Given the description of an element on the screen output the (x, y) to click on. 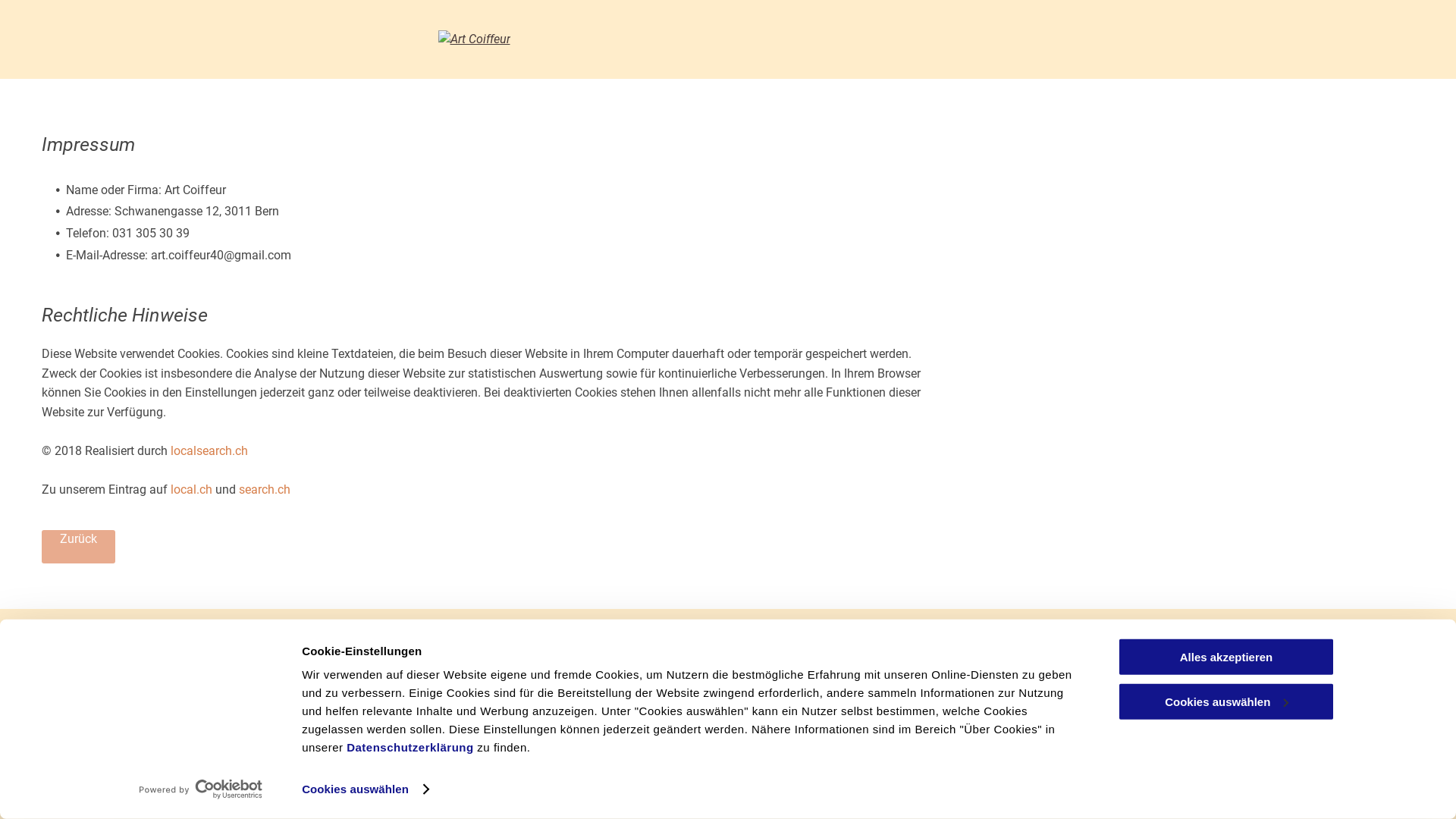
Alles akzeptieren Element type: text (1225, 656)
031 305 30 39 Element type: text (80, 753)
localsearch.ch Element type: text (208, 450)
Preisliste 1/2 Element type: text (76, 791)
local.ch Element type: text (191, 489)
search.ch Element type: text (264, 489)
